Given the description of an element on the screen output the (x, y) to click on. 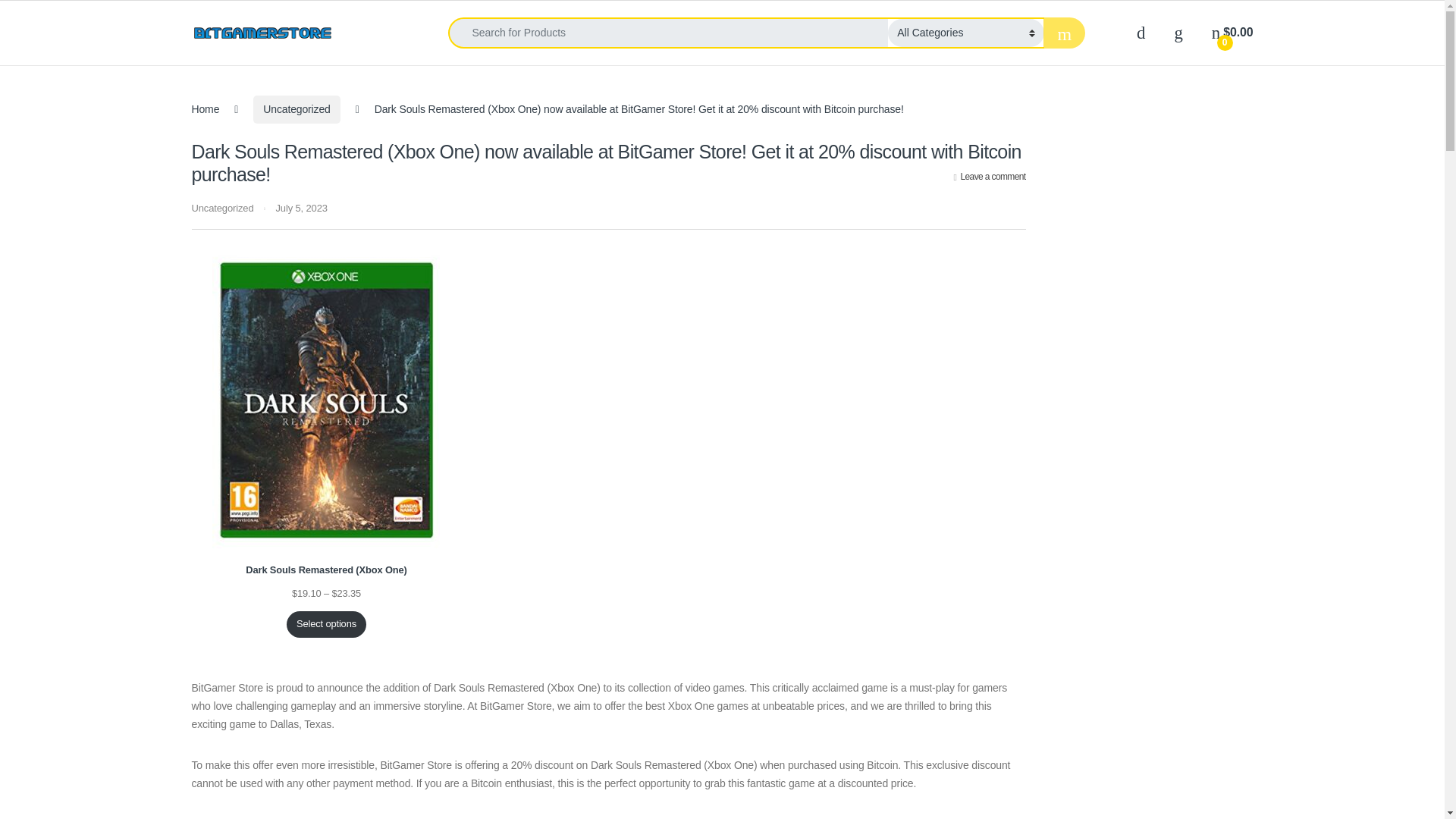
Categories (379, 32)
